Given the description of an element on the screen output the (x, y) to click on. 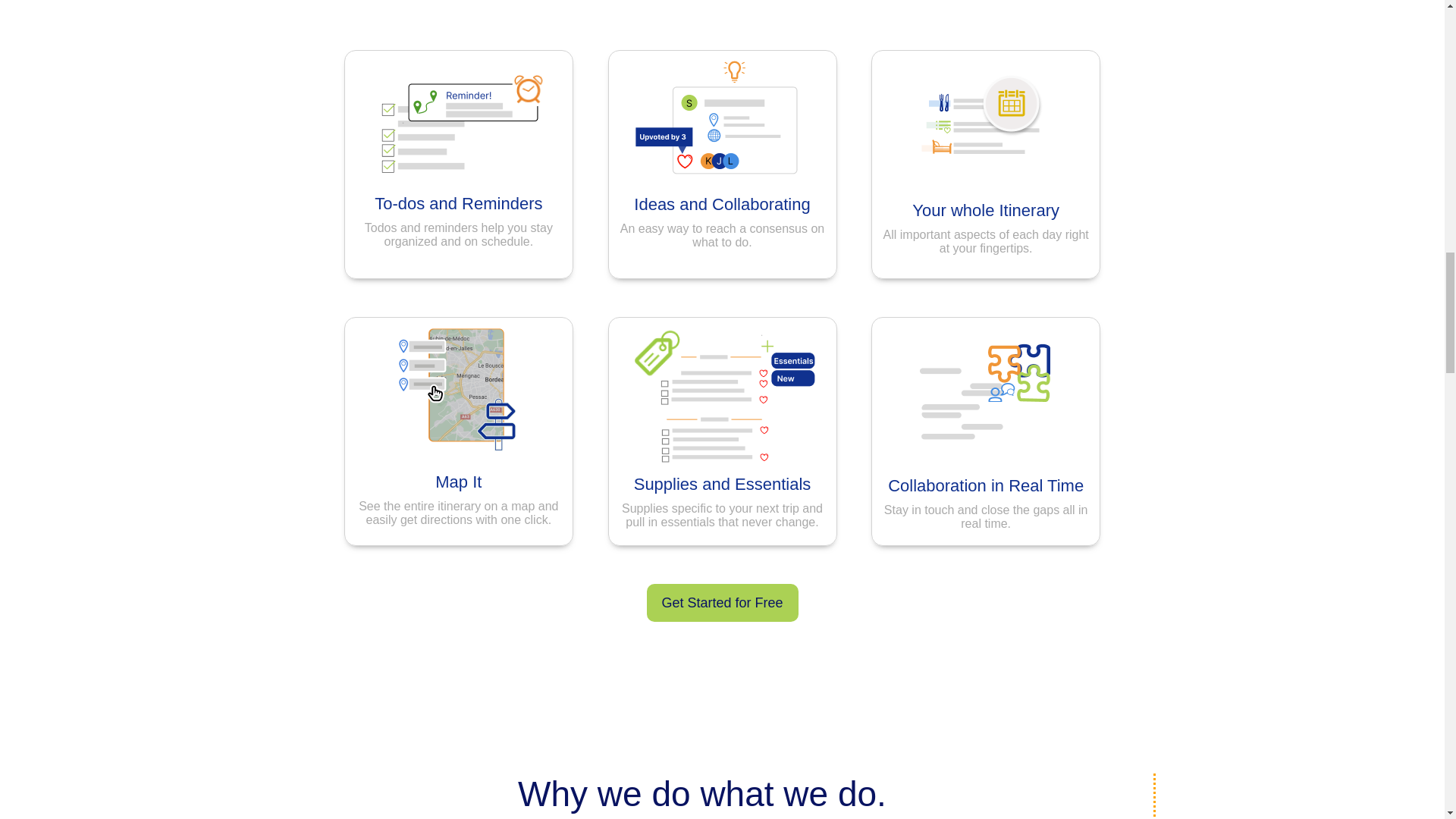
Get Started for Free (721, 602)
